Given the description of an element on the screen output the (x, y) to click on. 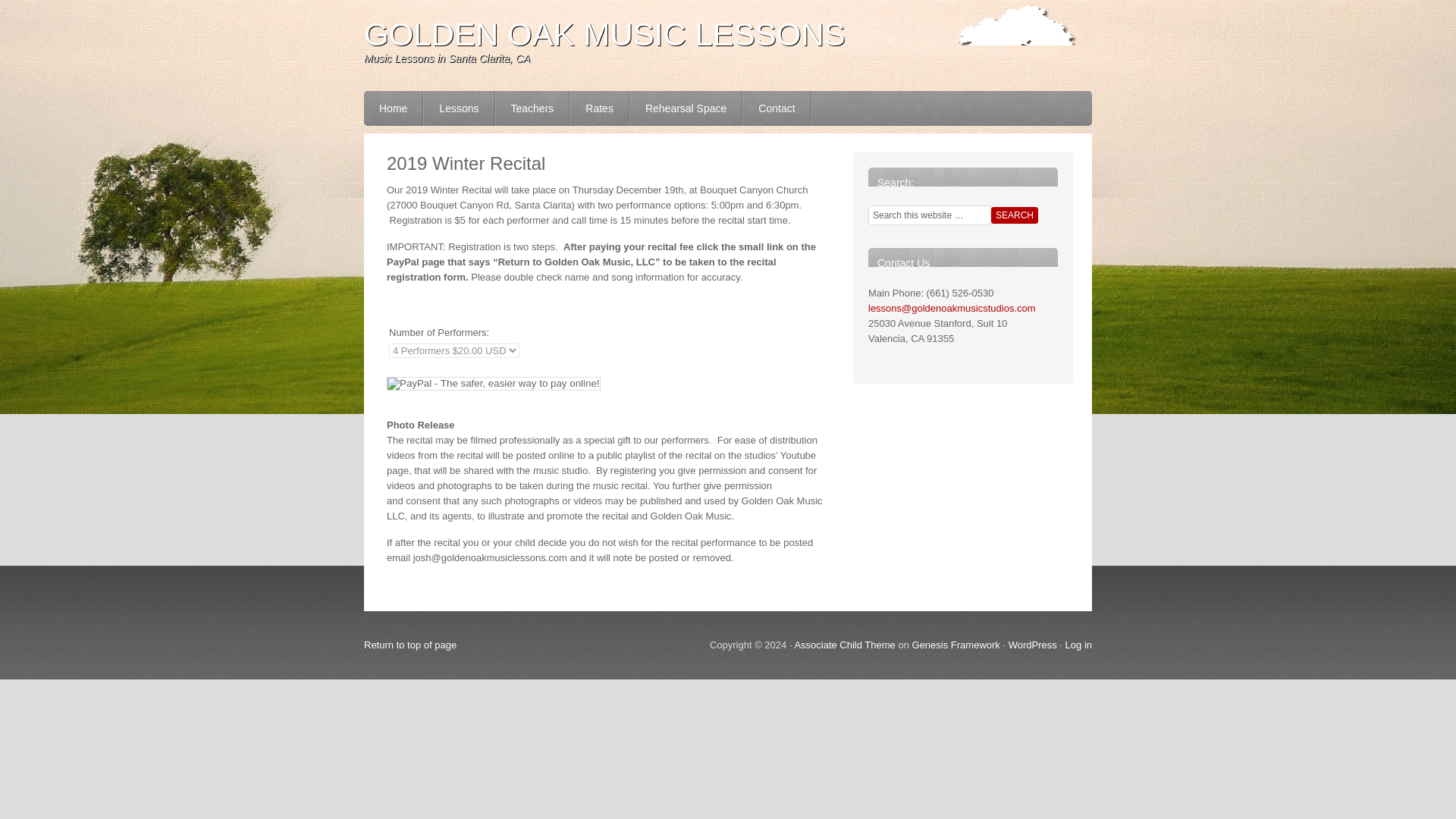
Home (393, 108)
WordPress (1033, 644)
Search (1014, 215)
Rehearsal Space (686, 108)
Return to top of page (410, 644)
Search (1014, 215)
Rates (600, 108)
Contact (776, 108)
Log in (1078, 644)
Search (1014, 215)
